Given the description of an element on the screen output the (x, y) to click on. 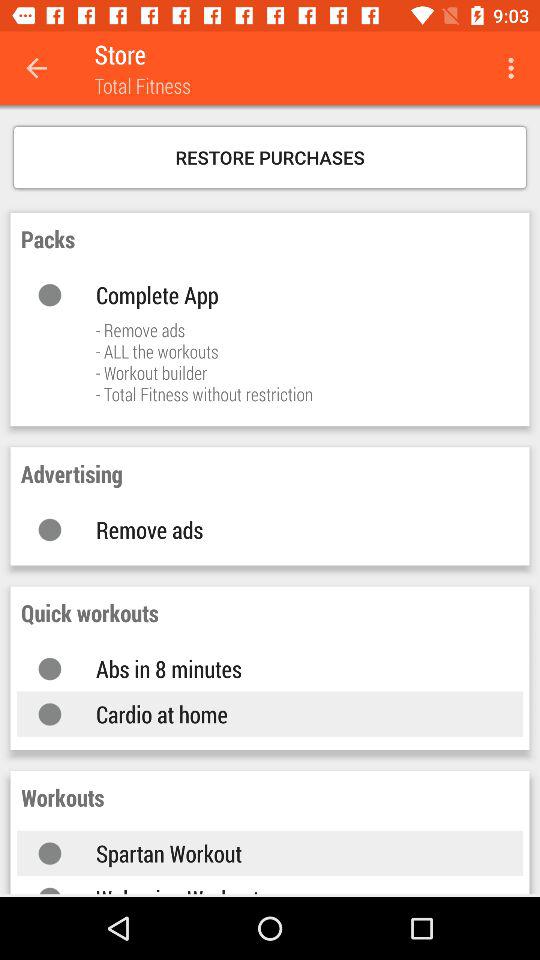
turn off the cardio at home item (289, 714)
